Given the description of an element on the screen output the (x, y) to click on. 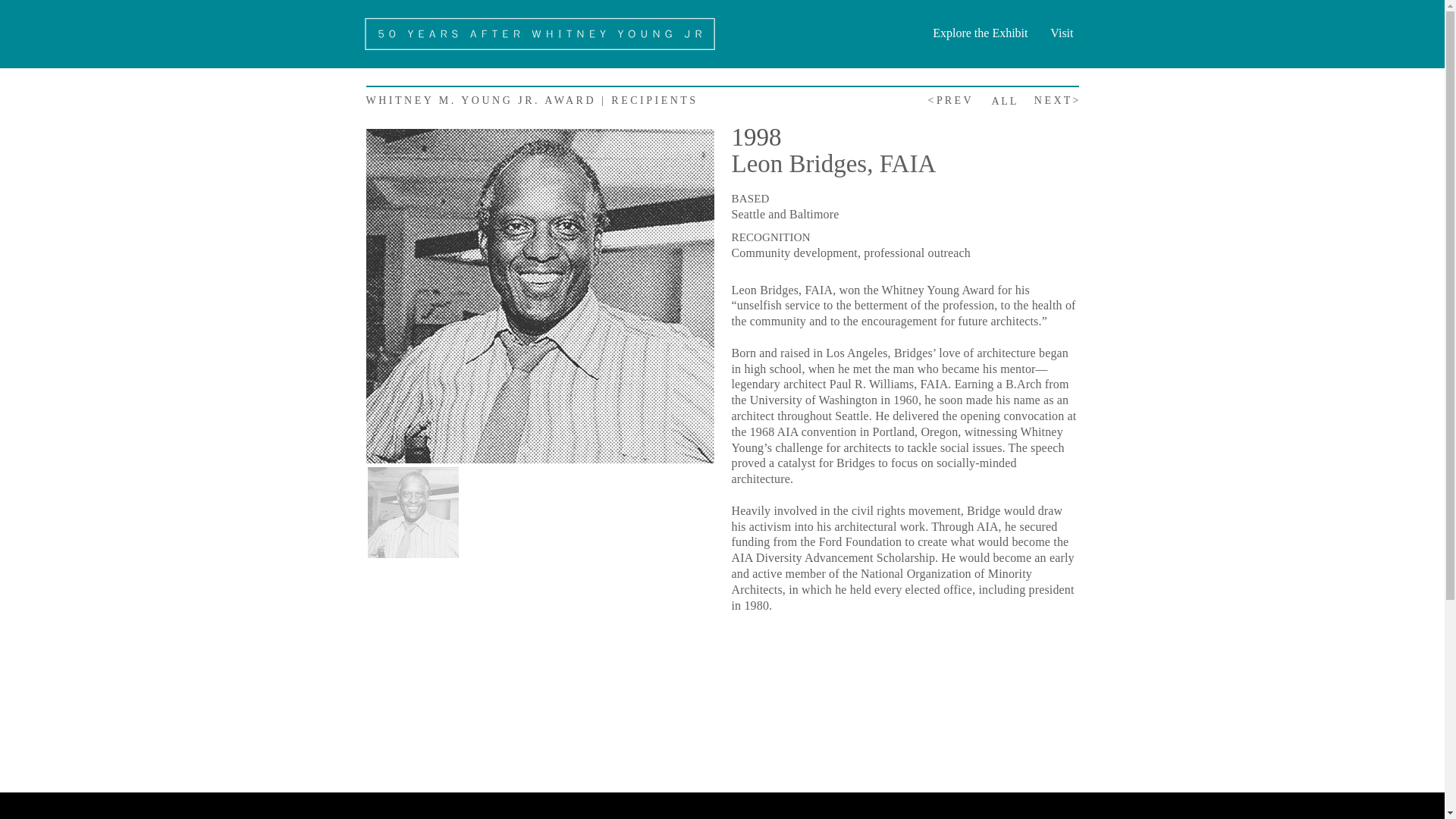
RECIPIENTS (654, 100)
WHITNEY M. YOUNG JR. AWARD (480, 100)
Visit (1057, 33)
A L L (1003, 101)
Explore the Exhibit (974, 33)
